Given the description of an element on the screen output the (x, y) to click on. 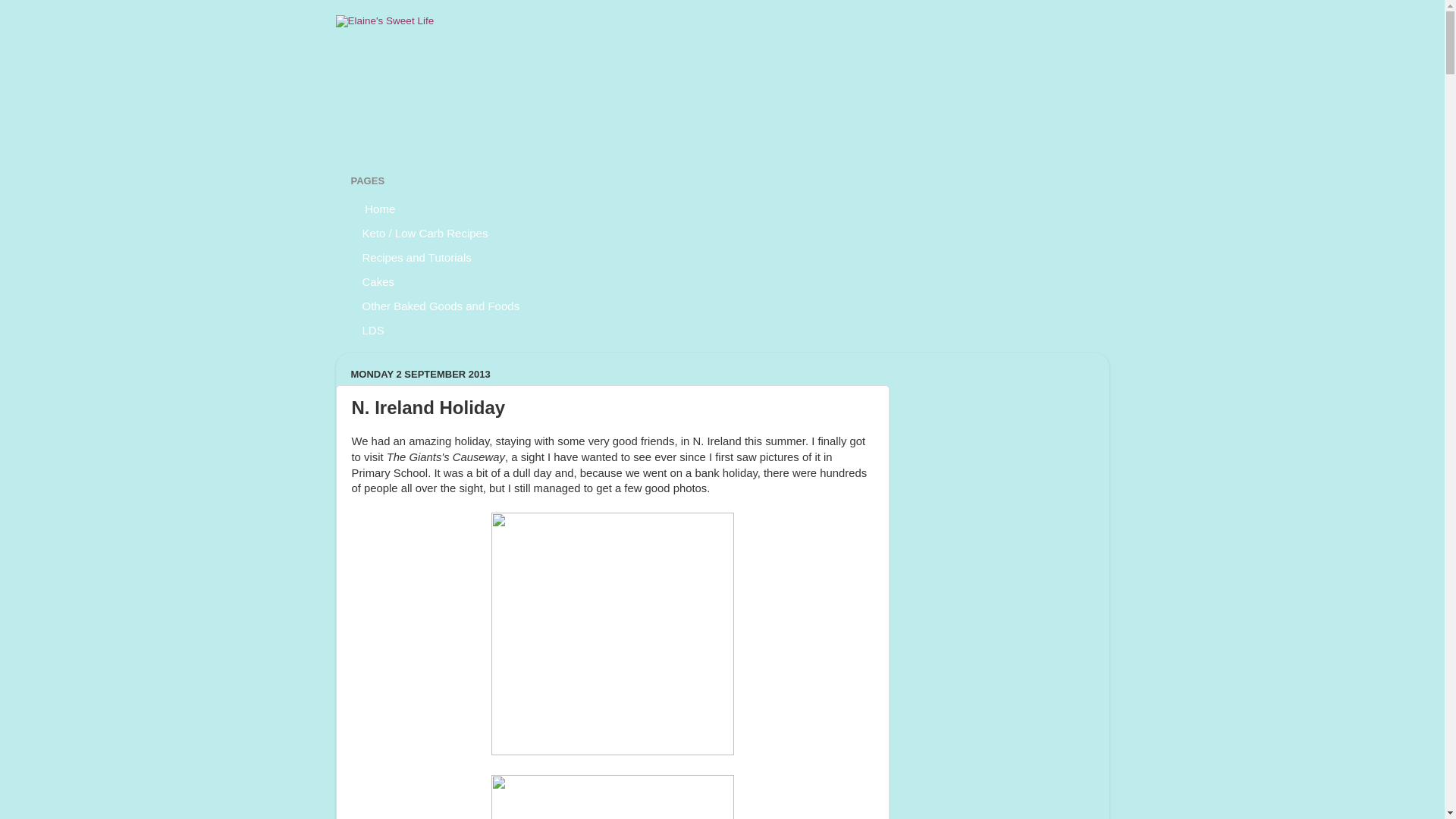
Recipes and Tutorials (416, 256)
Home (378, 208)
Other Baked Goods and Foods (440, 305)
LDS (373, 329)
Cakes (378, 281)
